Given the description of an element on the screen output the (x, y) to click on. 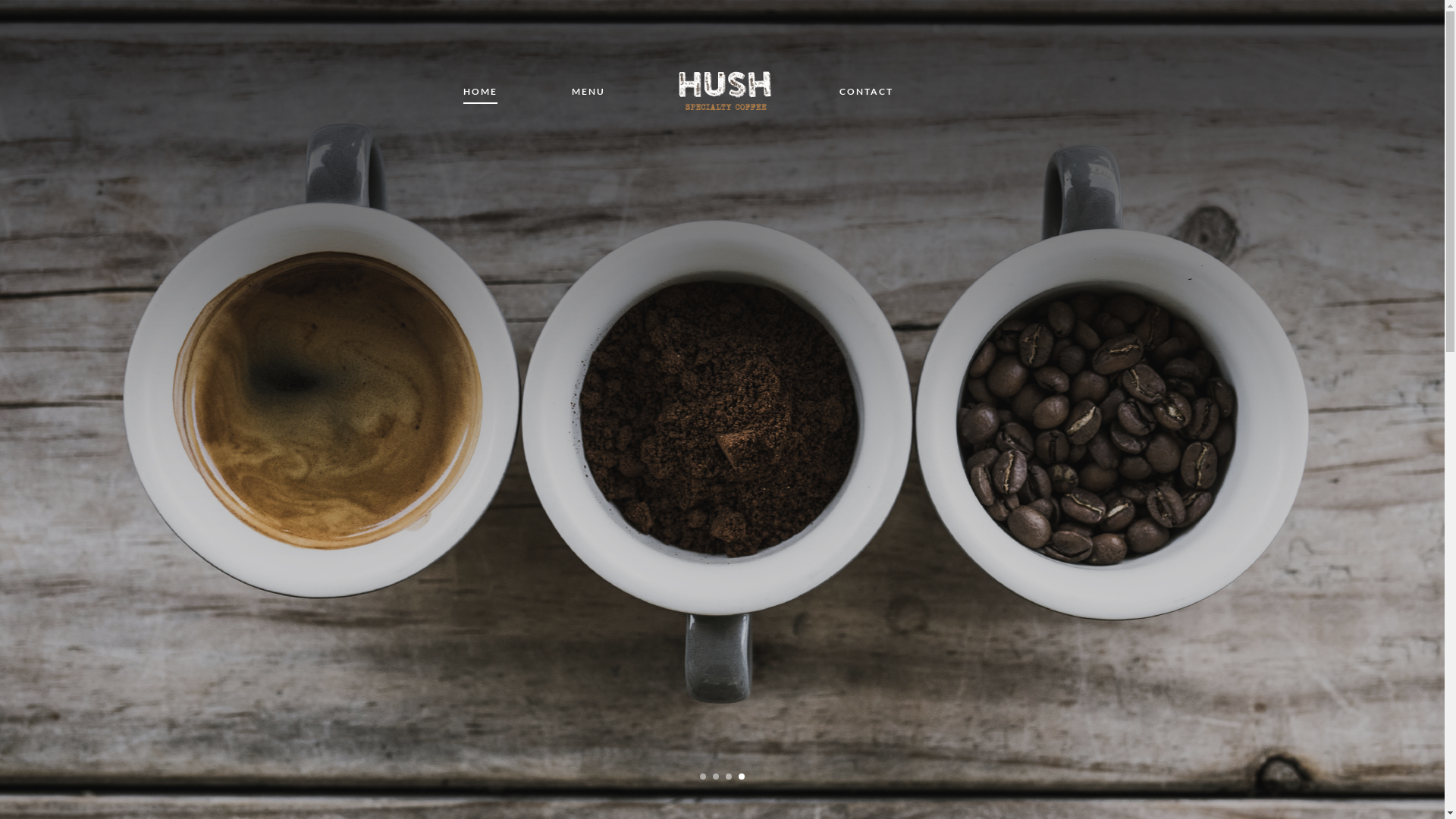
MENU Element type: text (588, 94)
CONTACT Element type: text (866, 94)
HOME Element type: text (480, 94)
